Given the description of an element on the screen output the (x, y) to click on. 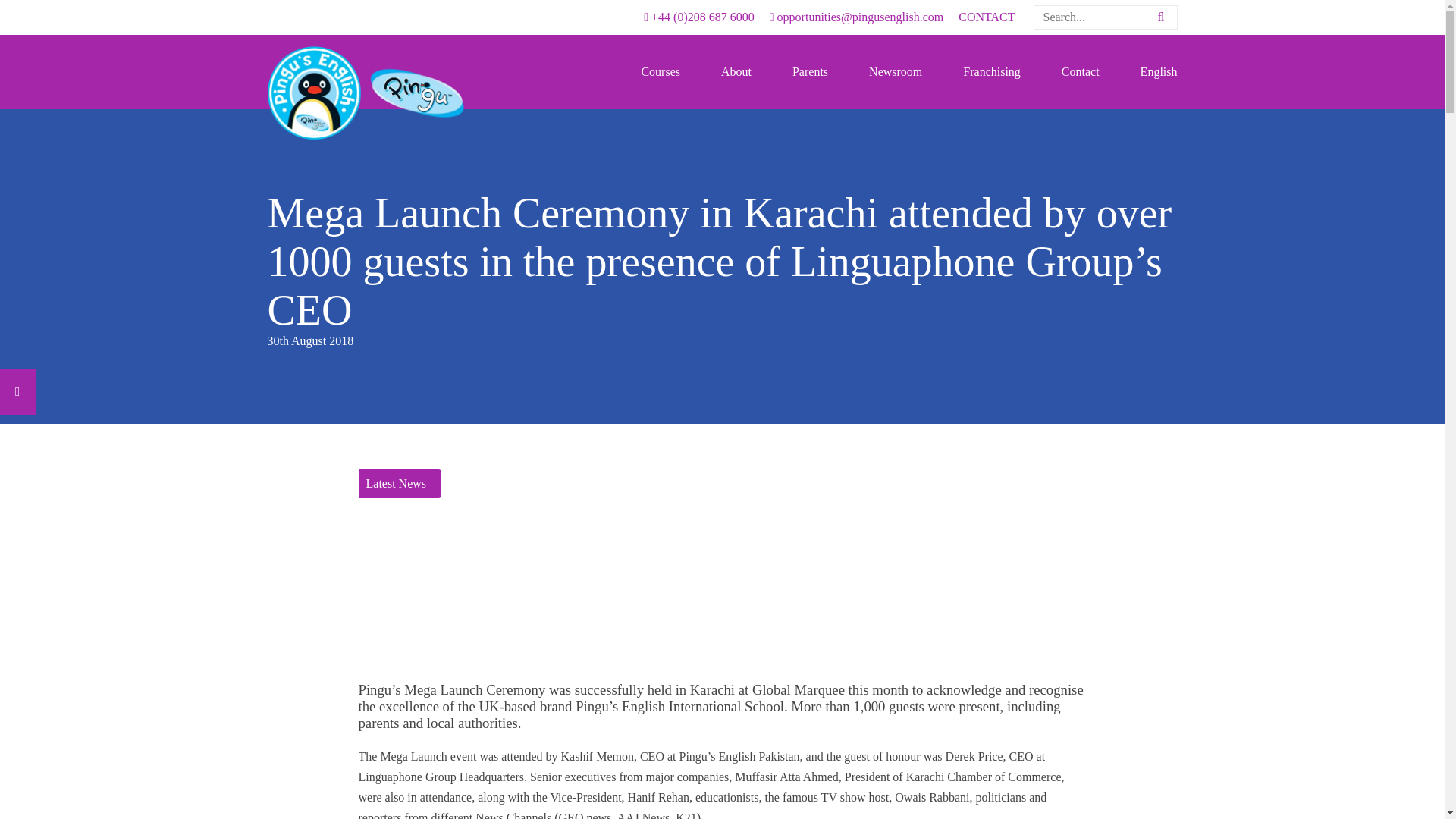
English (1158, 71)
Courses (660, 71)
Contact (1080, 71)
CONTACT (986, 16)
Franchising (991, 71)
Newsroom (895, 71)
English (1158, 71)
